Given the description of an element on the screen output the (x, y) to click on. 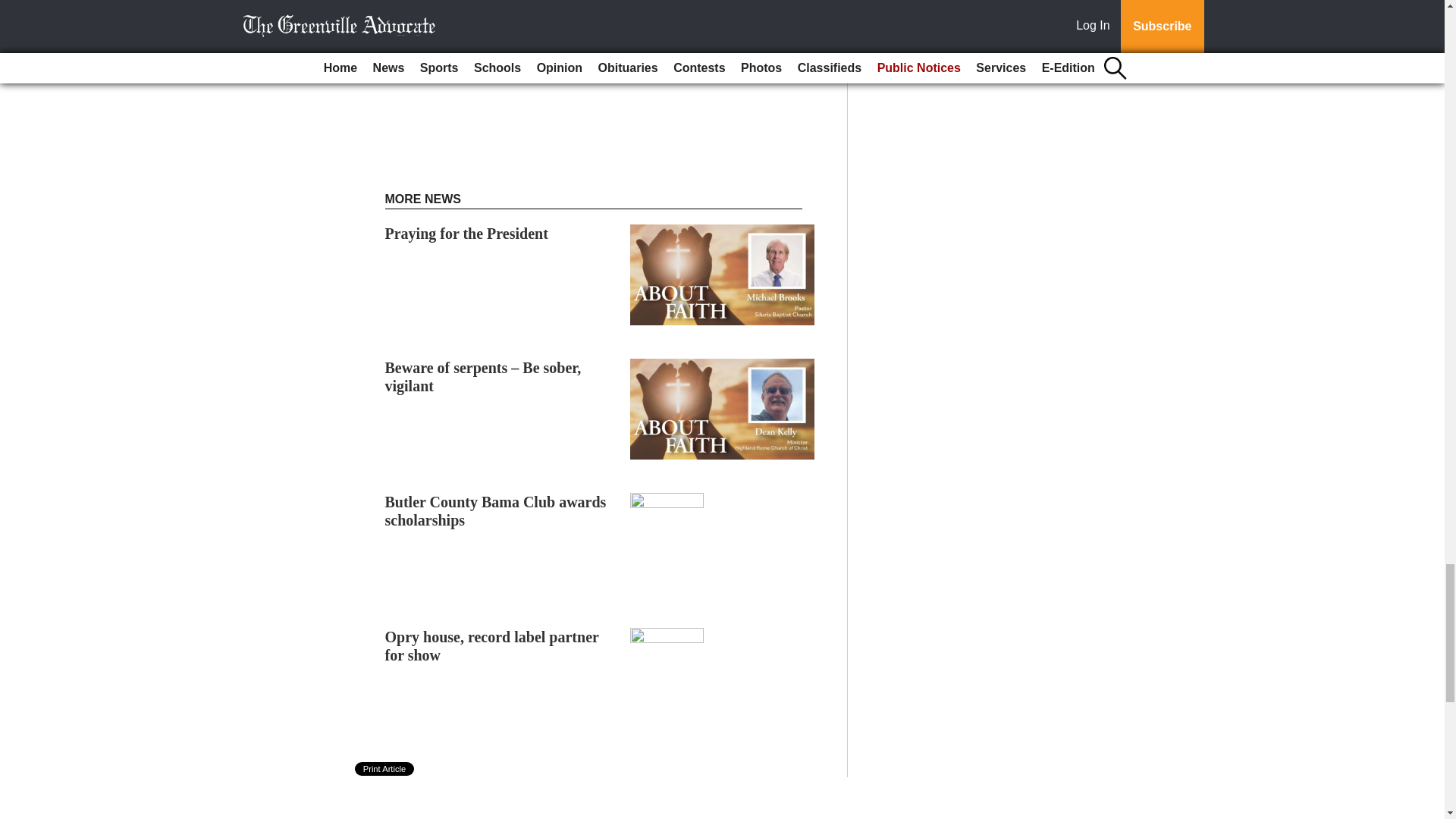
Praying for the President (466, 233)
Print Article (384, 768)
Butler County Bama Club awards scholarships (496, 510)
Butler County Bama Club awards scholarships (496, 510)
Opry house, record label partner for show (491, 645)
Opry house, record label partner for show (491, 645)
Praying for the President (466, 233)
